Given the description of an element on the screen output the (x, y) to click on. 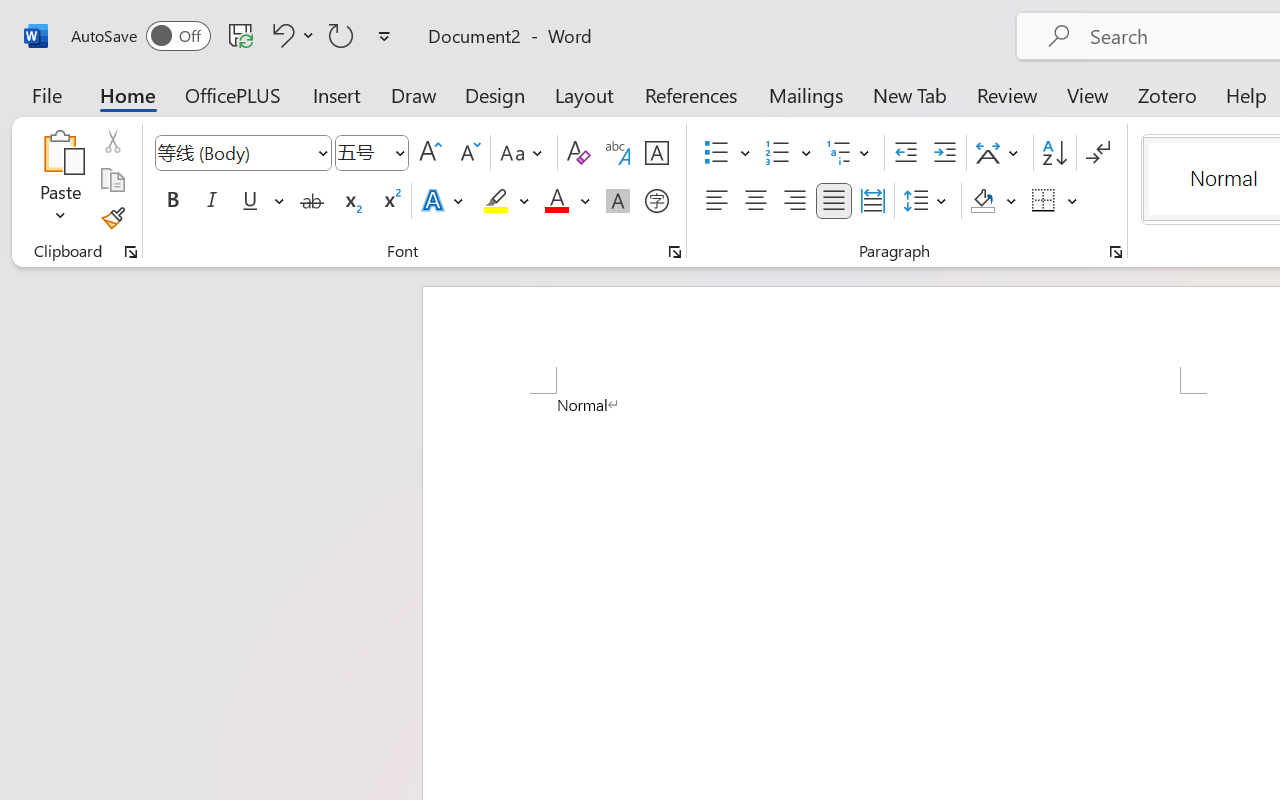
Font Size (372, 153)
Center (756, 201)
Review (1007, 94)
Borders (1055, 201)
Font Size (362, 152)
Text Effects and Typography (444, 201)
Save (241, 35)
Bold (172, 201)
Zotero (1166, 94)
Underline (250, 201)
Bullets (716, 153)
Paste (60, 151)
Home (127, 94)
Underline (261, 201)
Phonetic Guide... (618, 153)
